Given the description of an element on the screen output the (x, y) to click on. 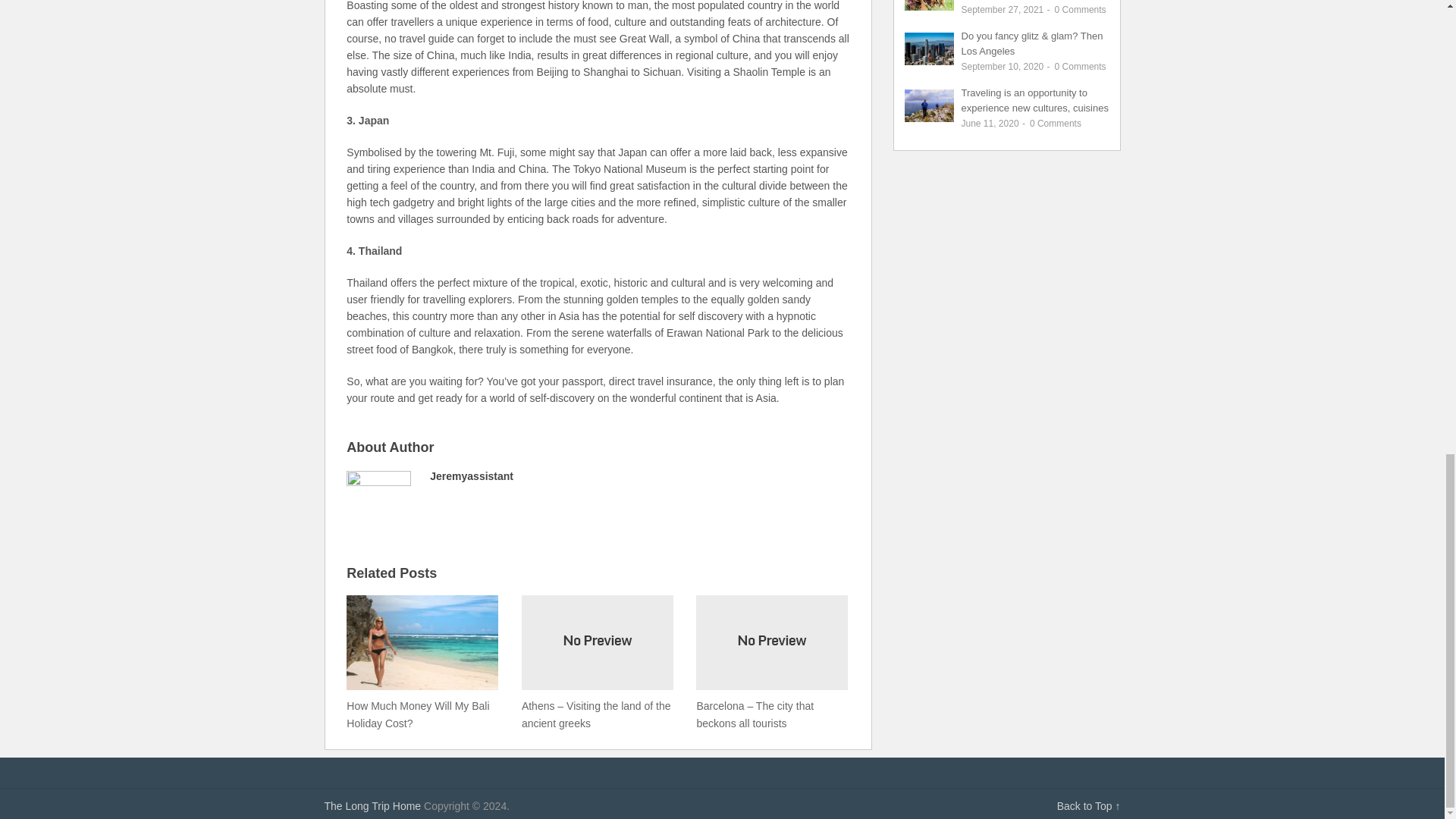
Must-Visit Attractions in Los Angeles (1031, 43)
Travel Injury: What To Do If You Are Hurt While Traveling (1034, 99)
An Indefintie Adventure to find a place call to home (373, 806)
